Given the description of an element on the screen output the (x, y) to click on. 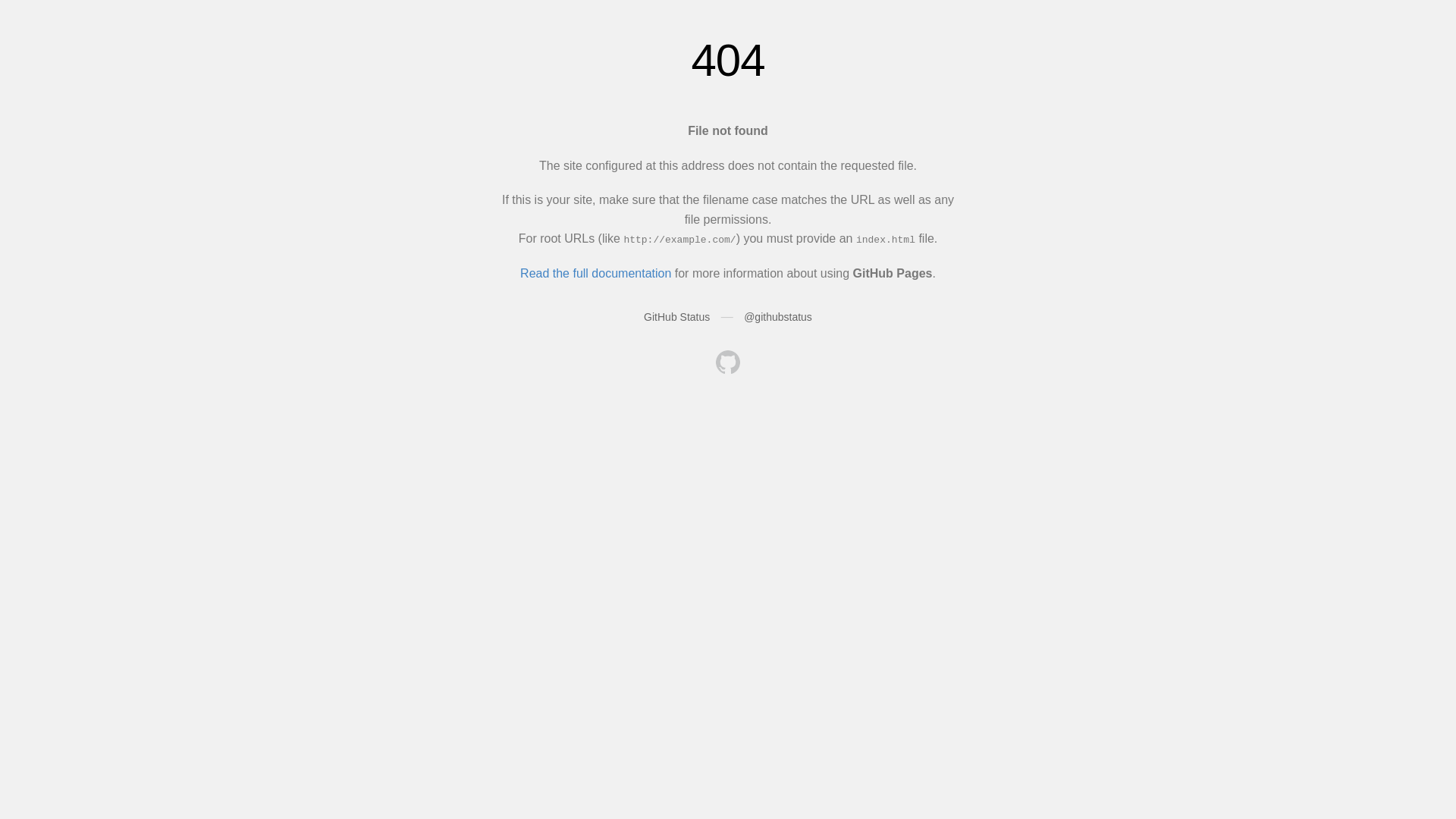
Read the full documentation Element type: text (595, 272)
GitHub Status Element type: text (676, 316)
@githubstatus Element type: text (777, 316)
